Given the description of an element on the screen output the (x, y) to click on. 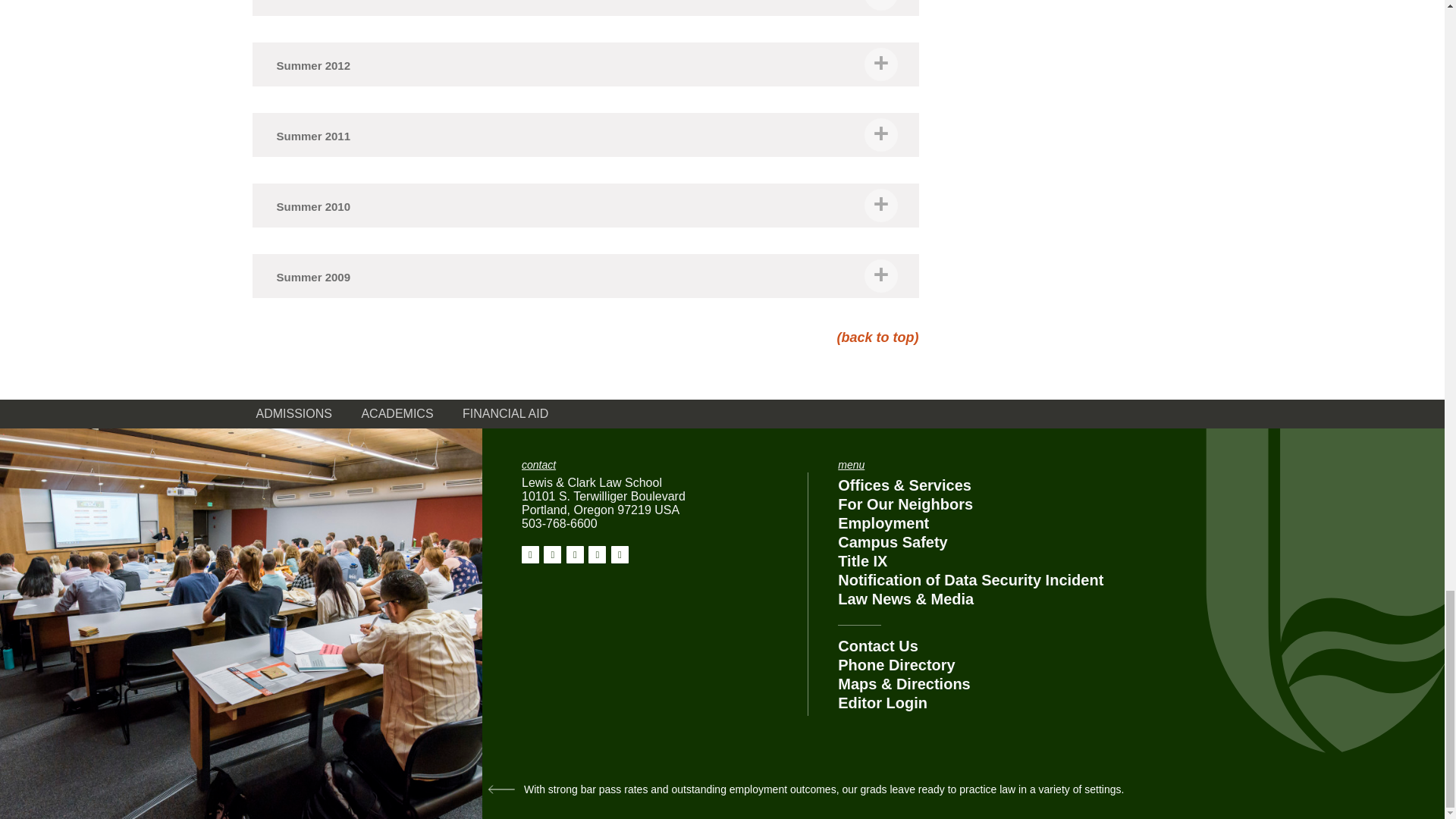
View our Facebook page (529, 554)
View our LinkedIn (596, 554)
View our YouTube (619, 554)
View our Instagram (551, 554)
View our Twitter (574, 554)
